Given the description of an element on the screen output the (x, y) to click on. 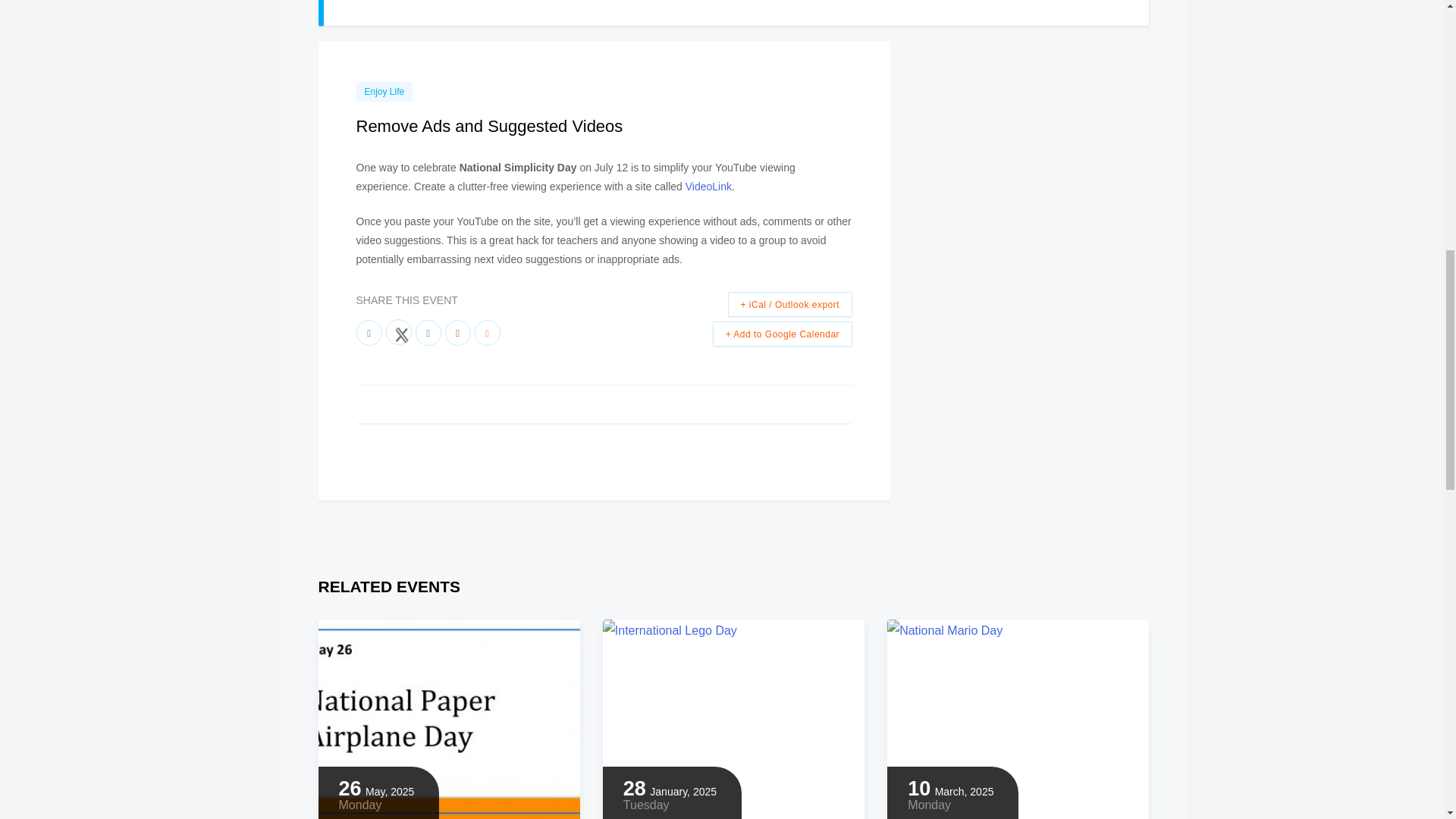
Email (487, 332)
Share on Facebook (368, 332)
Linkedin (427, 332)
Share on Pinterest (457, 332)
X Social Network (397, 331)
